Given the description of an element on the screen output the (x, y) to click on. 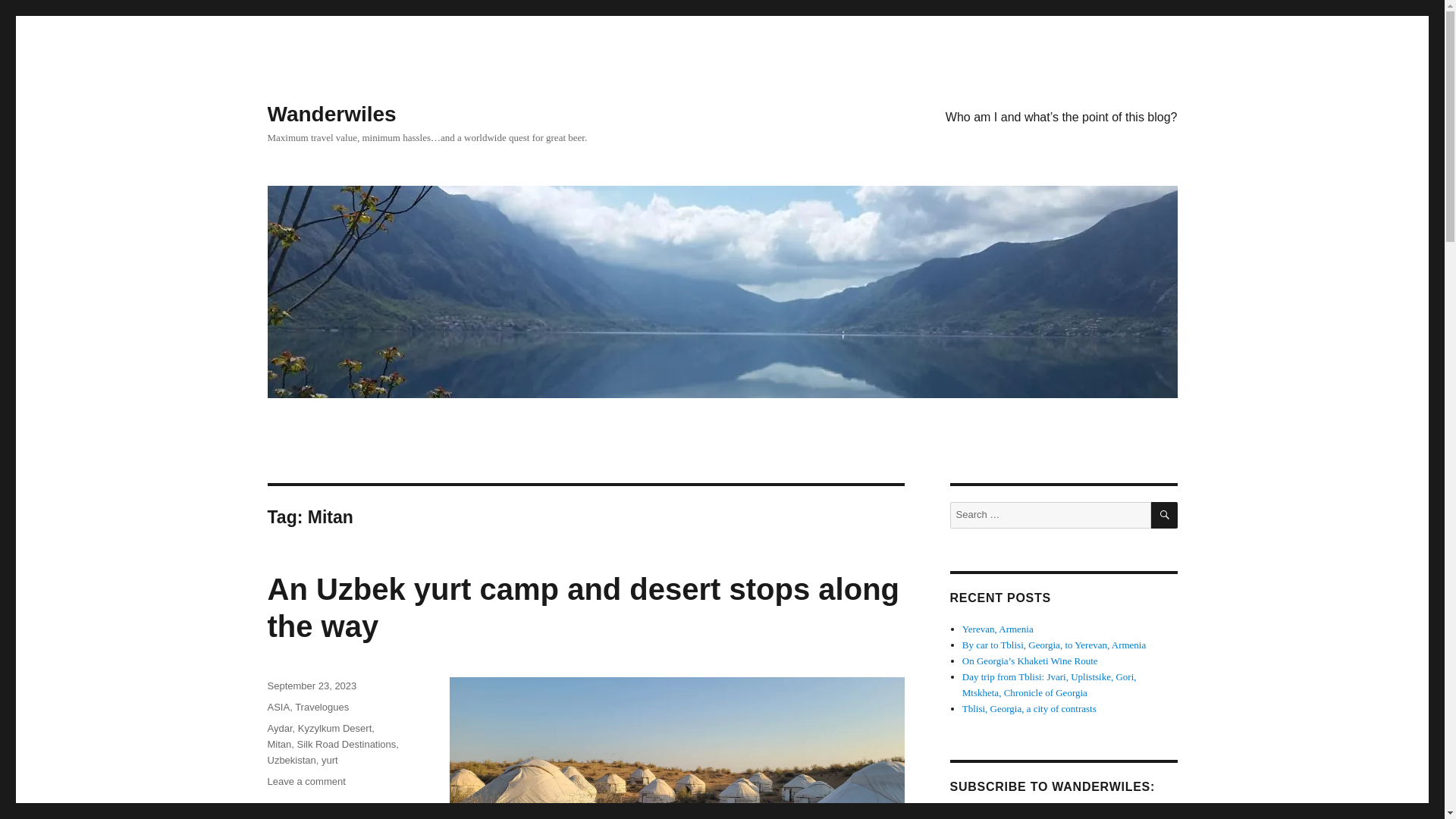
Travelogues (322, 706)
Mitan (278, 744)
Aydar (279, 727)
Silk Road Destinations (346, 744)
Tblisi, Georgia, a city of contrasts (1029, 708)
Kyzylkum Desert (335, 727)
ASIA (277, 706)
By car to Tblisi, Georgia, to Yerevan, Armenia (1054, 644)
Wanderwiles (331, 114)
Uzbekistan (290, 759)
An Uzbek yurt camp and desert stops along the way (582, 607)
September 23, 2023 (311, 685)
SEARCH (1164, 515)
yurt (329, 759)
